Given the description of an element on the screen output the (x, y) to click on. 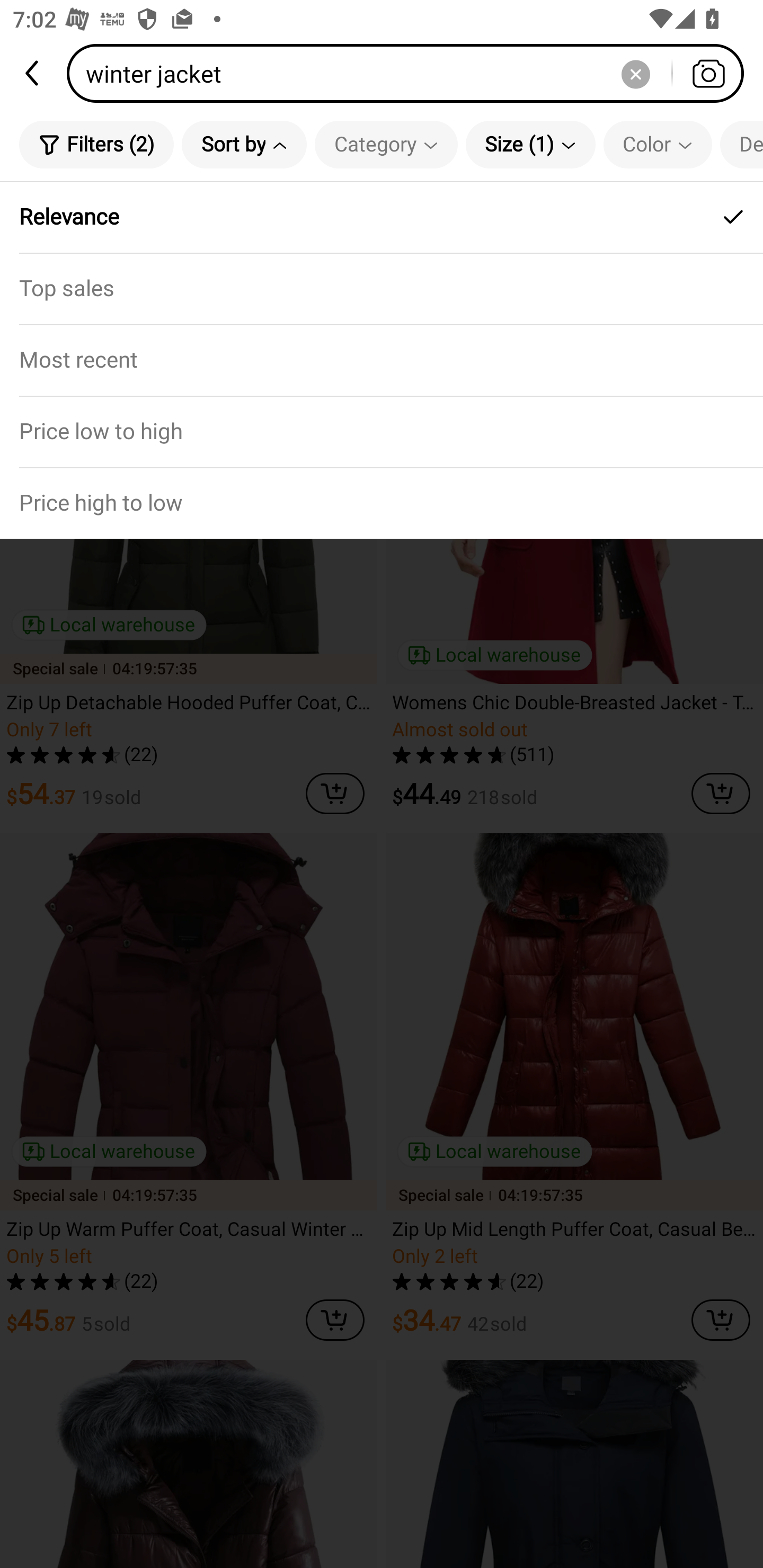
back (33, 72)
winter jacket (411, 73)
Delete search history (635, 73)
Search by photo (708, 73)
Filters (2) (96, 143)
Sort by (243, 143)
Category (385, 143)
Size (1) (530, 143)
Color (657, 143)
Relevance (381, 216)
Top sales (381, 288)
Most recent (381, 359)
Price low to high (381, 431)
Price high to low (381, 503)
